Given the description of an element on the screen output the (x, y) to click on. 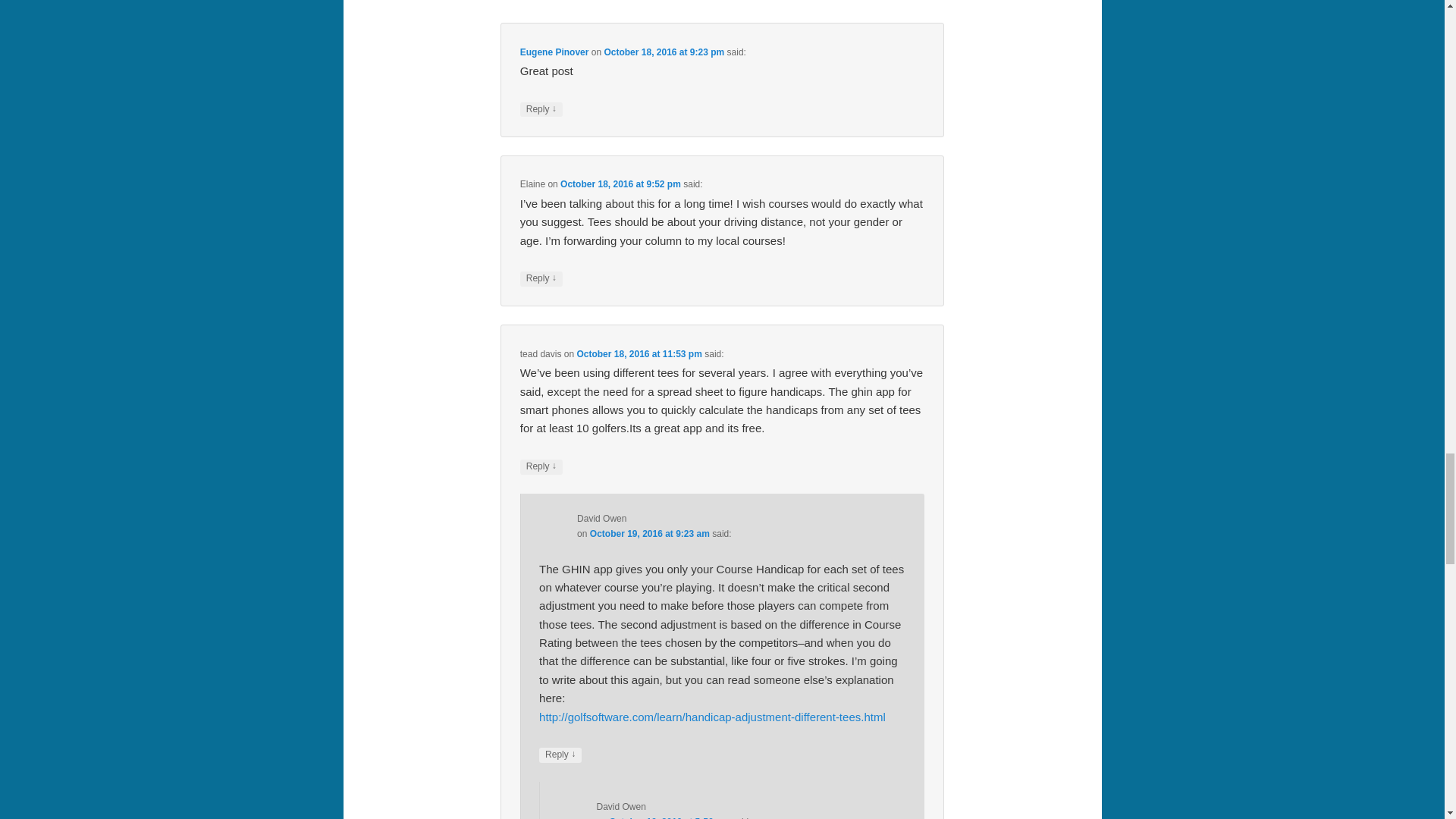
October 18, 2016 at 9:23 pm (663, 51)
October 18, 2016 at 11:53 pm (638, 353)
October 18, 2016 at 9:52 pm (620, 184)
Eugene Pinover (554, 51)
